Given the description of an element on the screen output the (x, y) to click on. 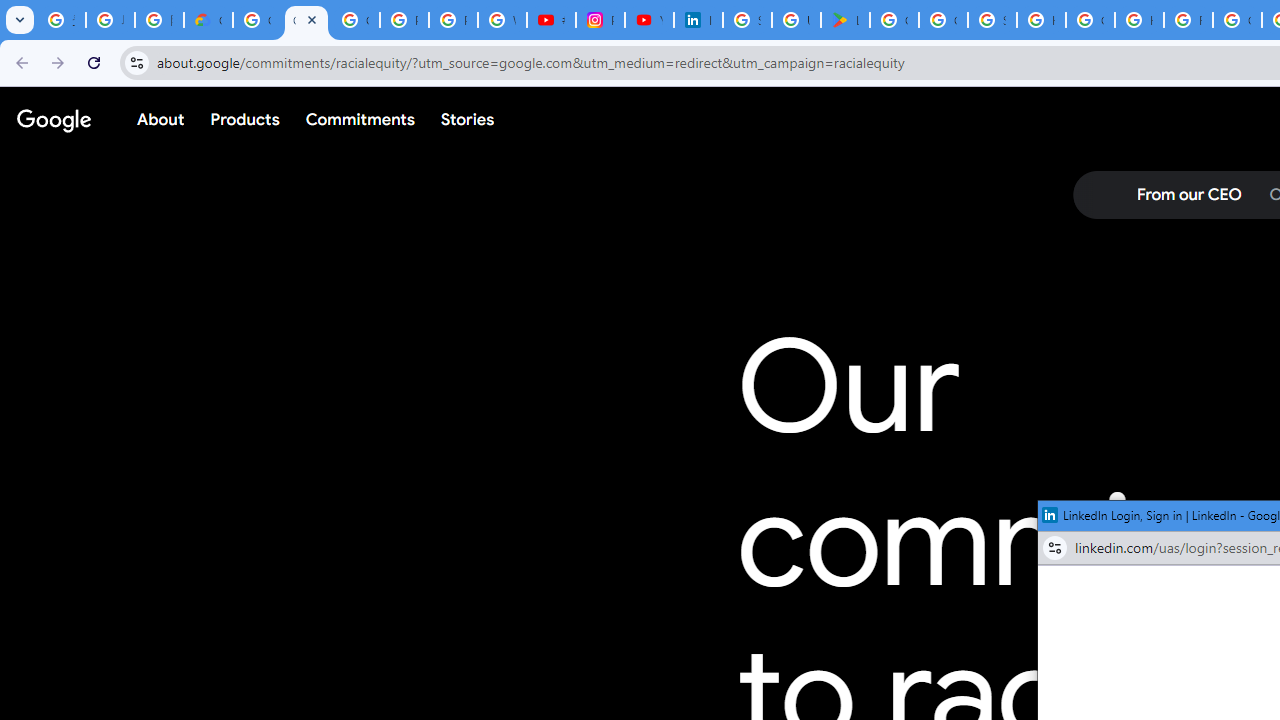
From our CEO: Jump to page section (1188, 195)
Sign in - Google Accounts (992, 20)
Sign in - Google Accounts (747, 20)
